Given the description of an element on the screen output the (x, y) to click on. 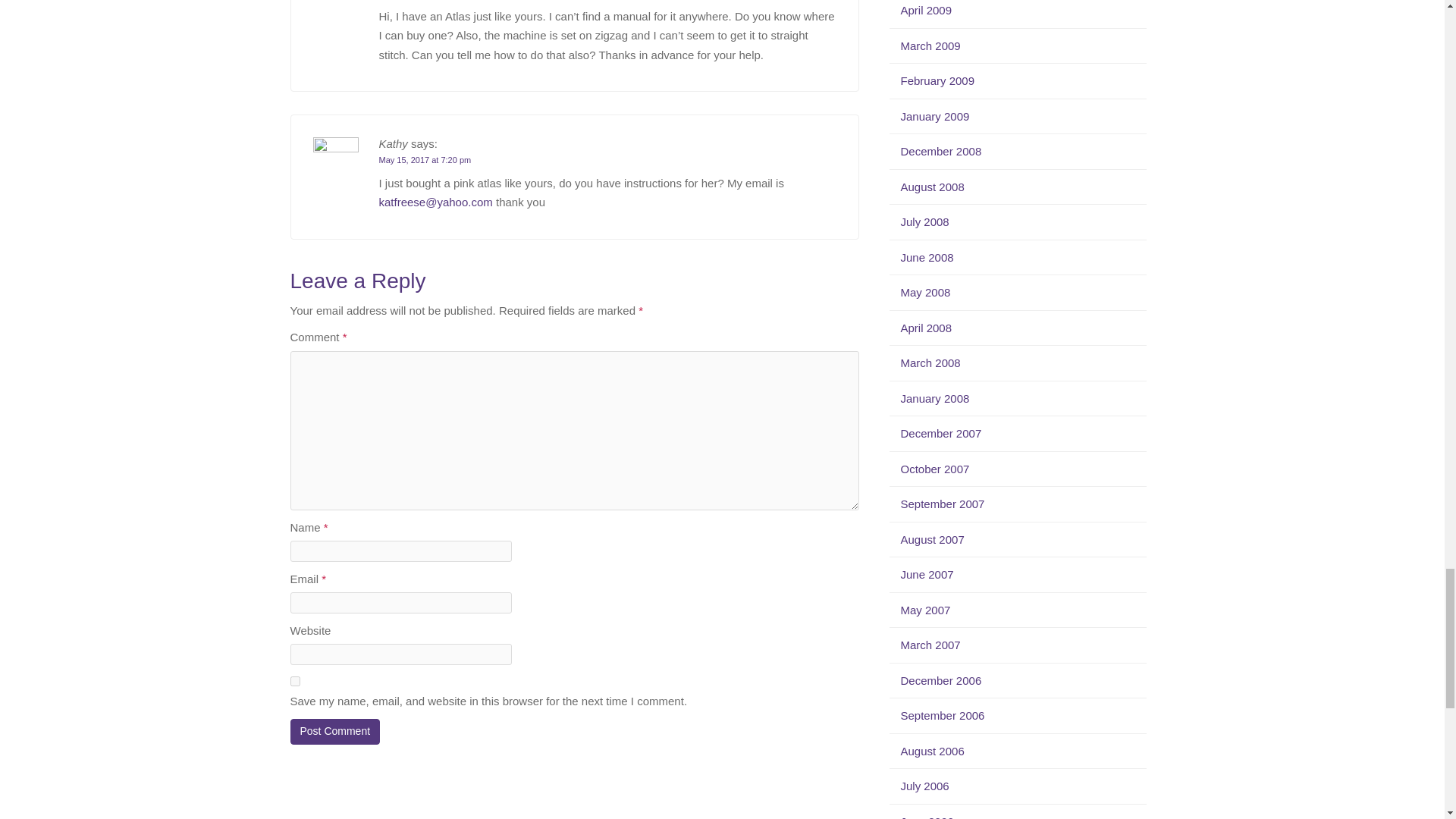
yes (294, 681)
Post Comment (334, 731)
May 15, 2017 at 7:20 pm (424, 159)
